Given the description of an element on the screen output the (x, y) to click on. 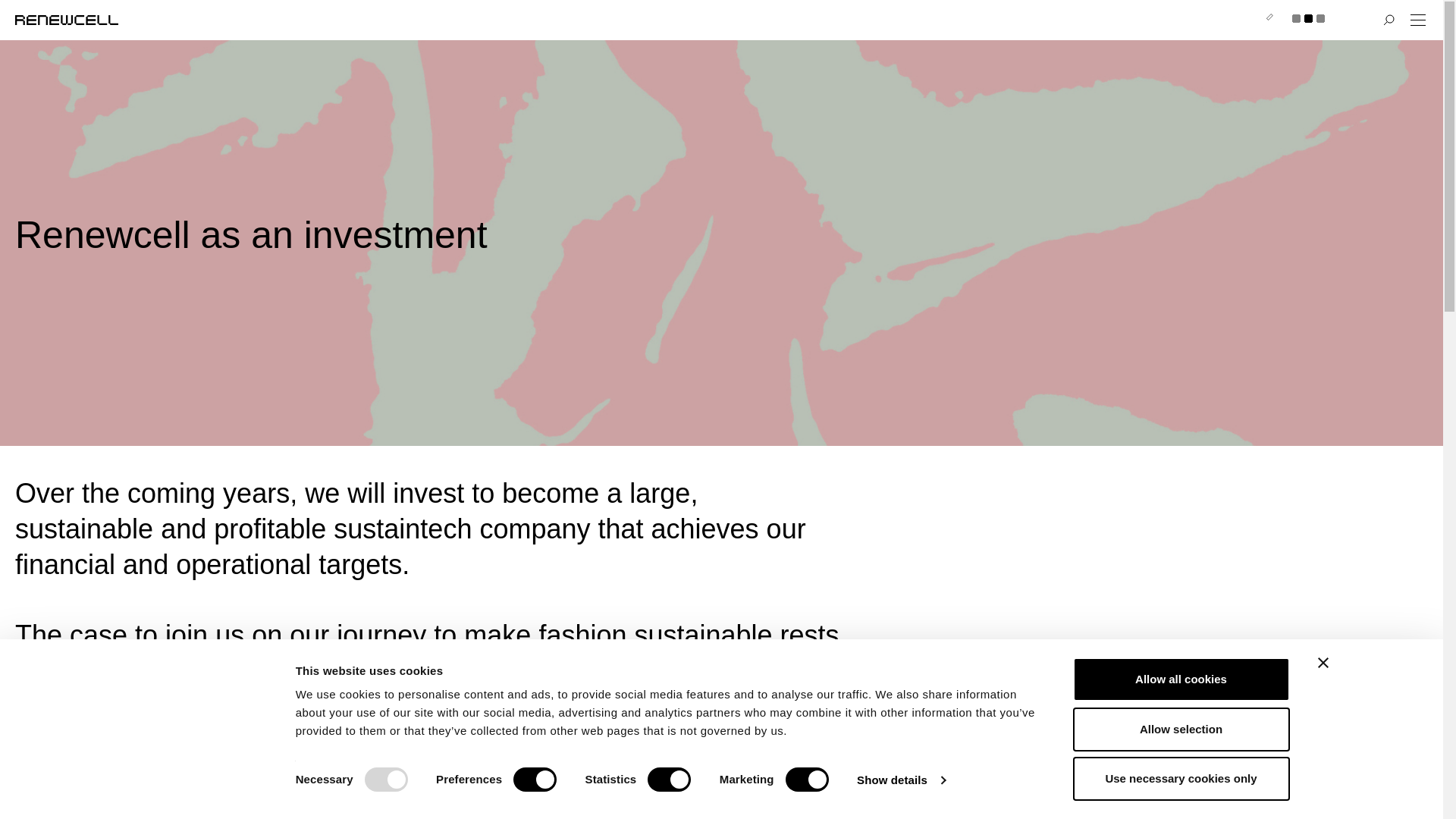
Allow selection (1179, 728)
Use necessary cookies only (1179, 778)
Allow all cookies (1179, 679)
Show details (900, 780)
